Given the description of an element on the screen output the (x, y) to click on. 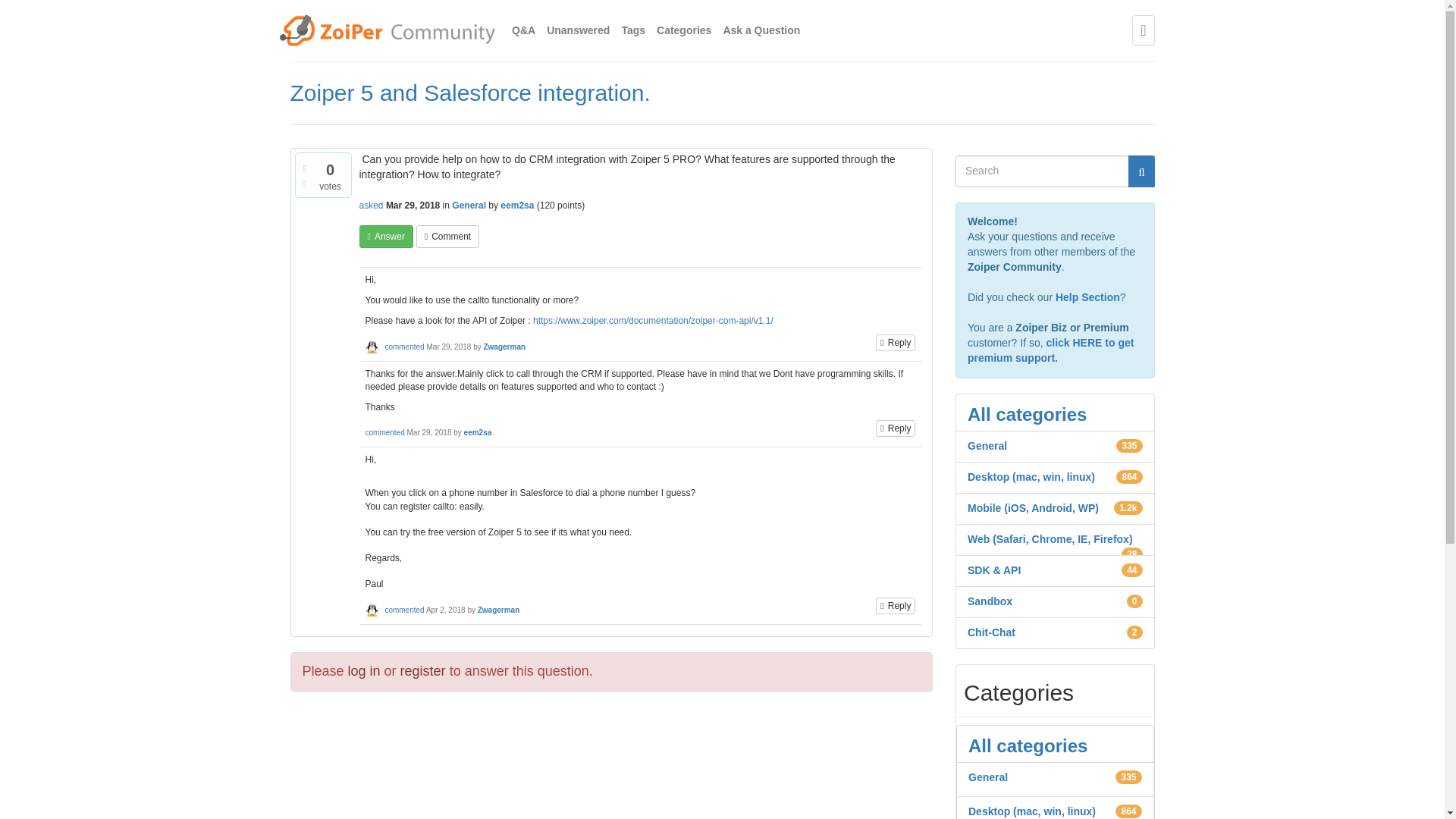
commented (403, 610)
Zoiper 5 and Salesforce integration. (469, 92)
log in (363, 670)
asked (371, 204)
Answer (386, 236)
Reply (895, 605)
commented (403, 347)
Categories (683, 30)
Zwagerman (504, 347)
commented (384, 432)
Zwagerman (498, 610)
Reply (895, 342)
Comment (447, 236)
Ask a Question (760, 30)
register (422, 670)
